Given the description of an element on the screen output the (x, y) to click on. 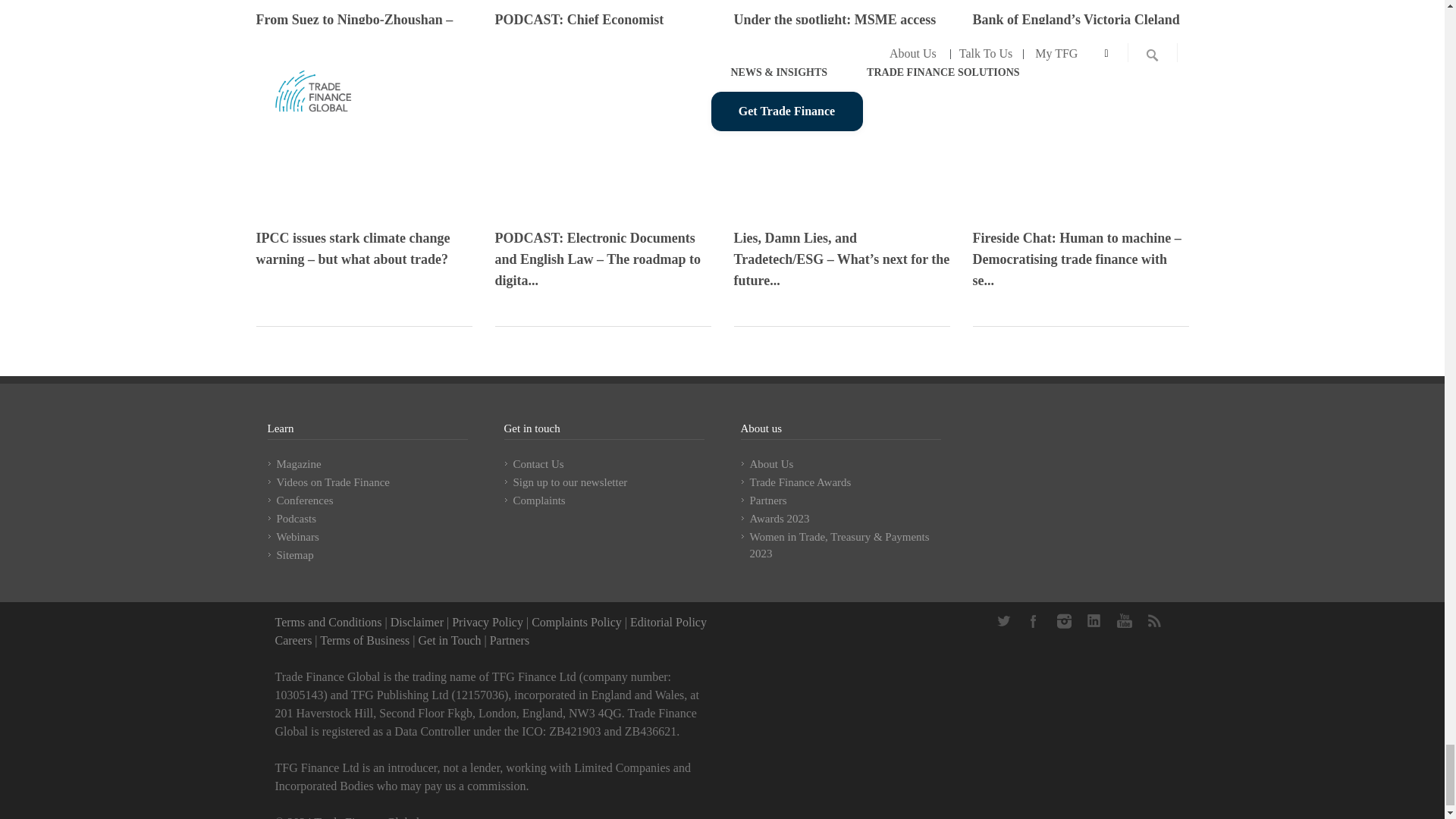
Complaints Policy (576, 621)
Contact Us (448, 640)
Terms of Business (364, 640)
Trade Finance Jobs (293, 640)
Privacy Policy (486, 621)
Terms and Conditions (328, 621)
Editorial Policy (668, 621)
Disclaimer (417, 621)
